Given the description of an element on the screen output the (x, y) to click on. 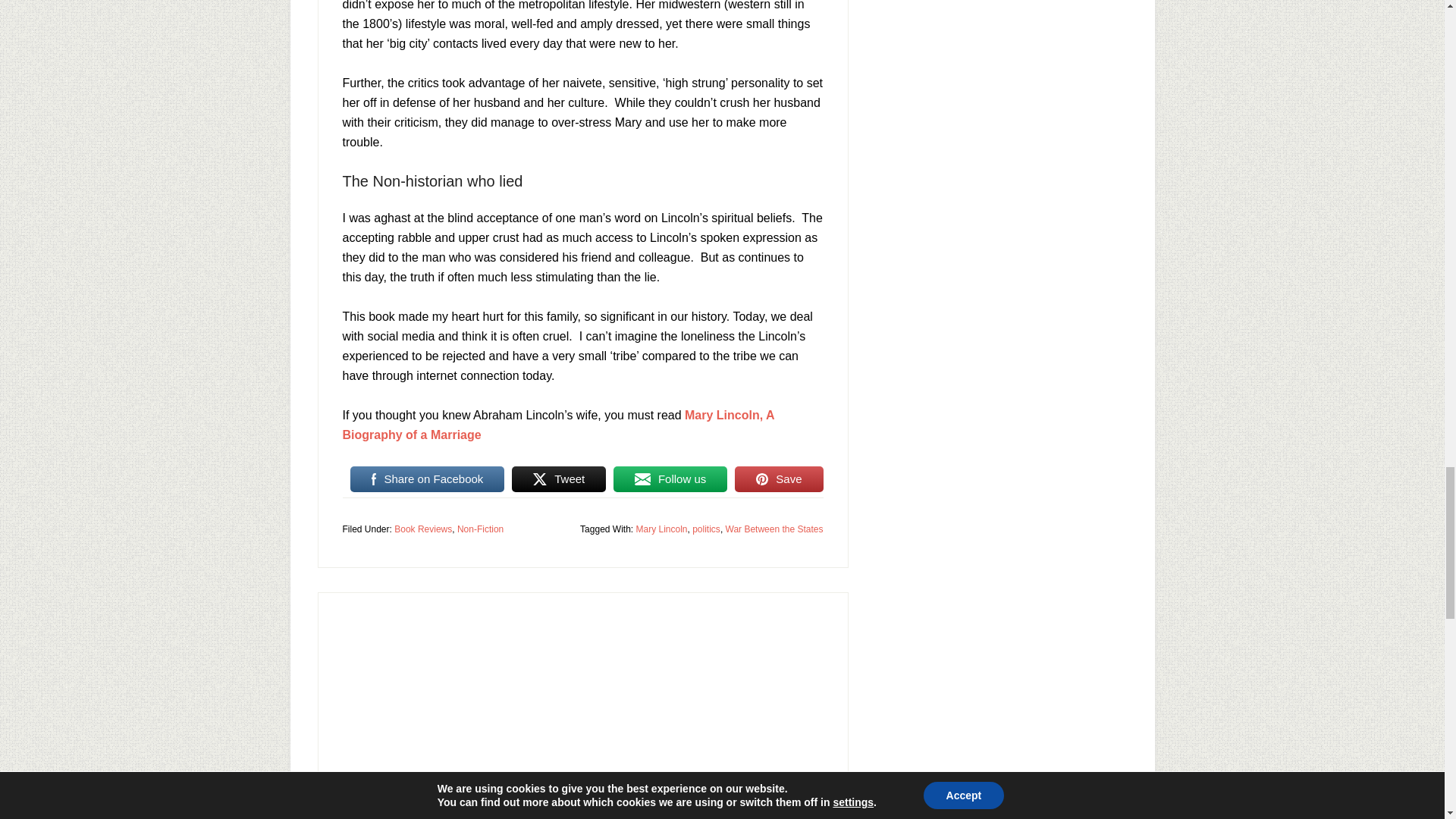
Save (778, 479)
Share on Facebook (427, 479)
Mary Lincoln (660, 529)
Follow us (669, 479)
Non-Fiction (480, 529)
Tweet (558, 479)
Book Reviews (422, 529)
politics (706, 529)
War Between the States (774, 529)
Mary Lincoln, A Biography of a Marriage (558, 424)
